Given the description of an element on the screen output the (x, y) to click on. 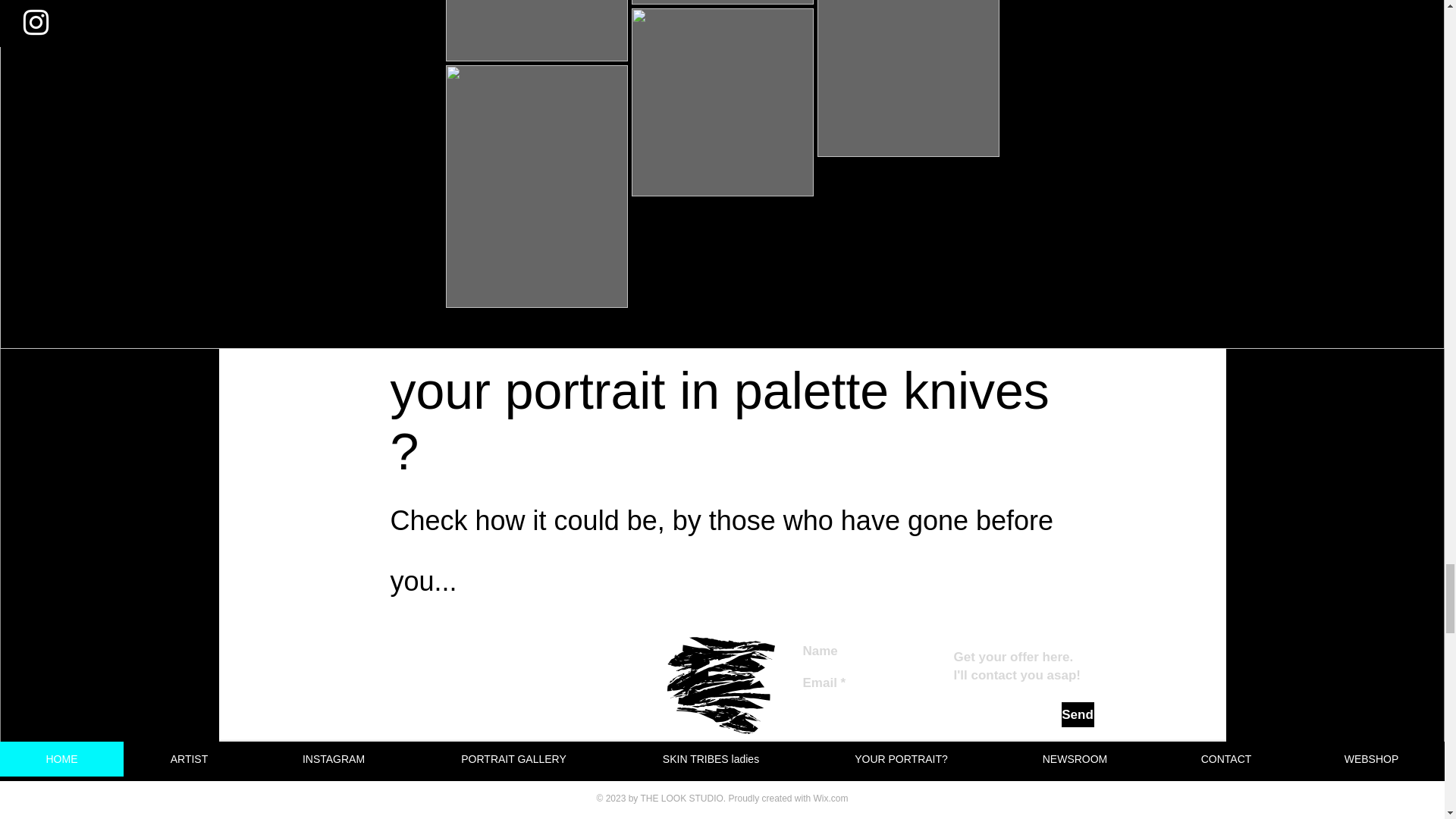
Send (1077, 714)
